Given the description of an element on the screen output the (x, y) to click on. 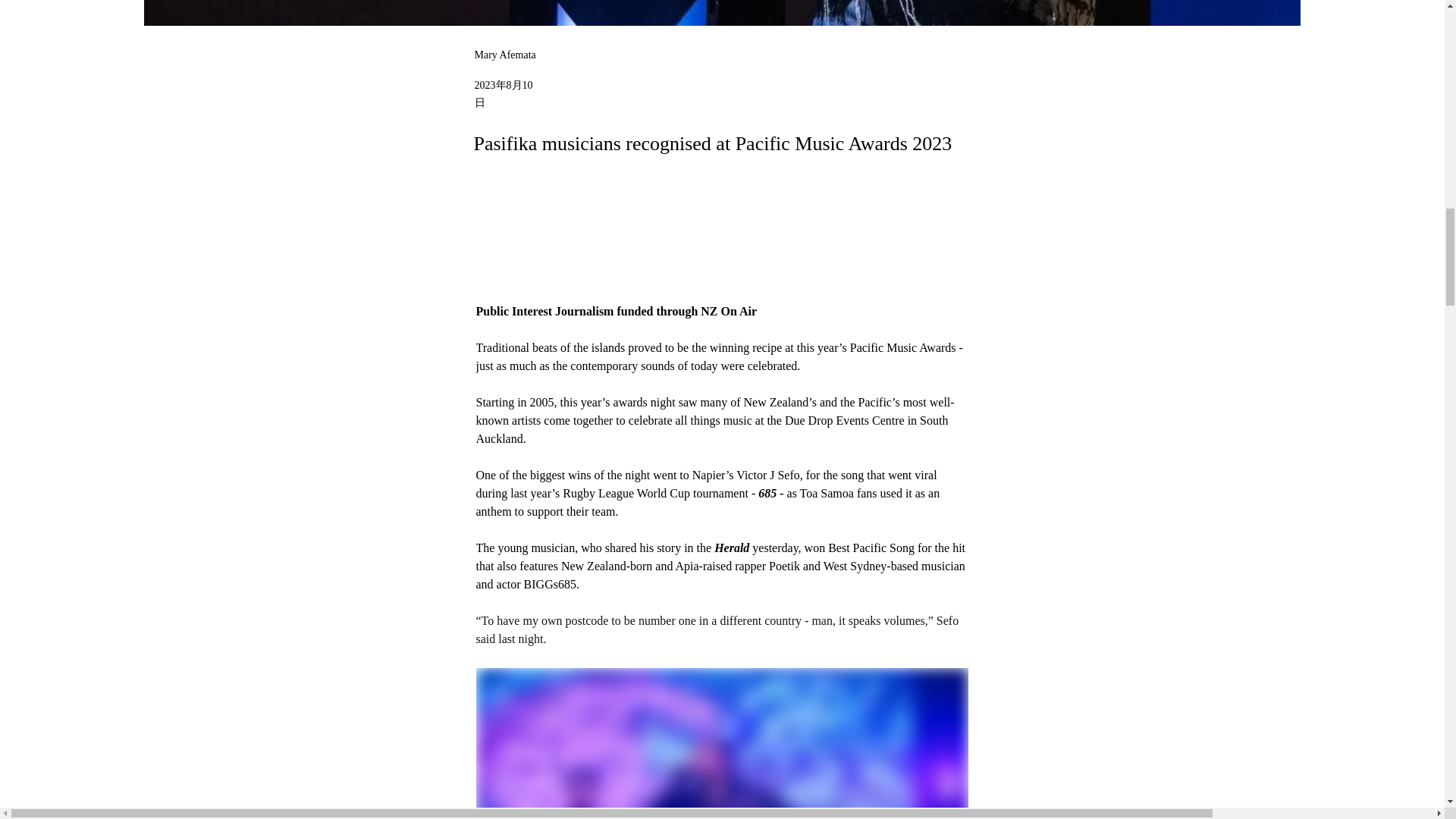
Herald  (733, 547)
yesterday, (776, 547)
his story in the  (676, 547)
